Given the description of an element on the screen output the (x, y) to click on. 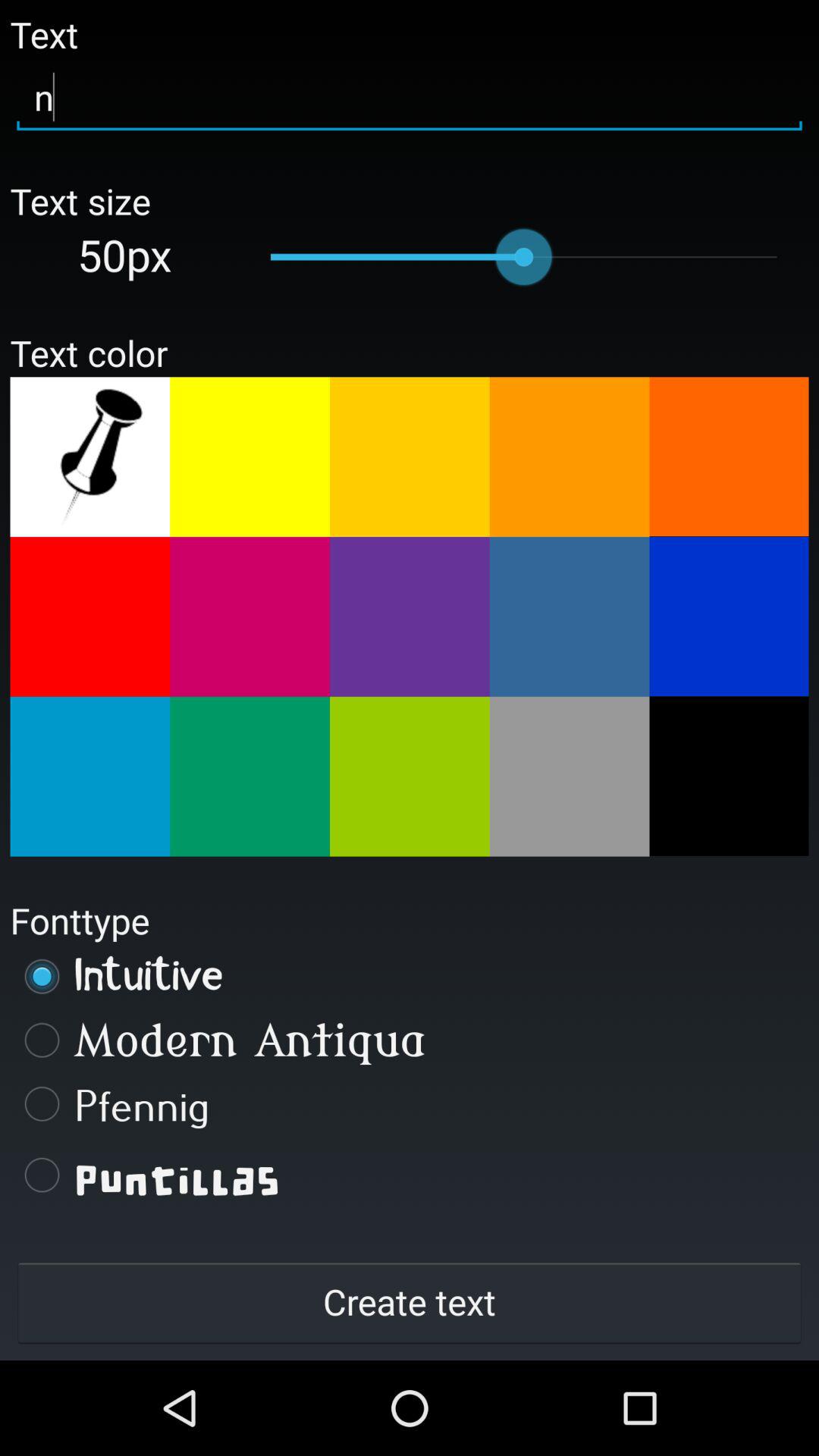
change the color (728, 775)
